Given the description of an element on the screen output the (x, y) to click on. 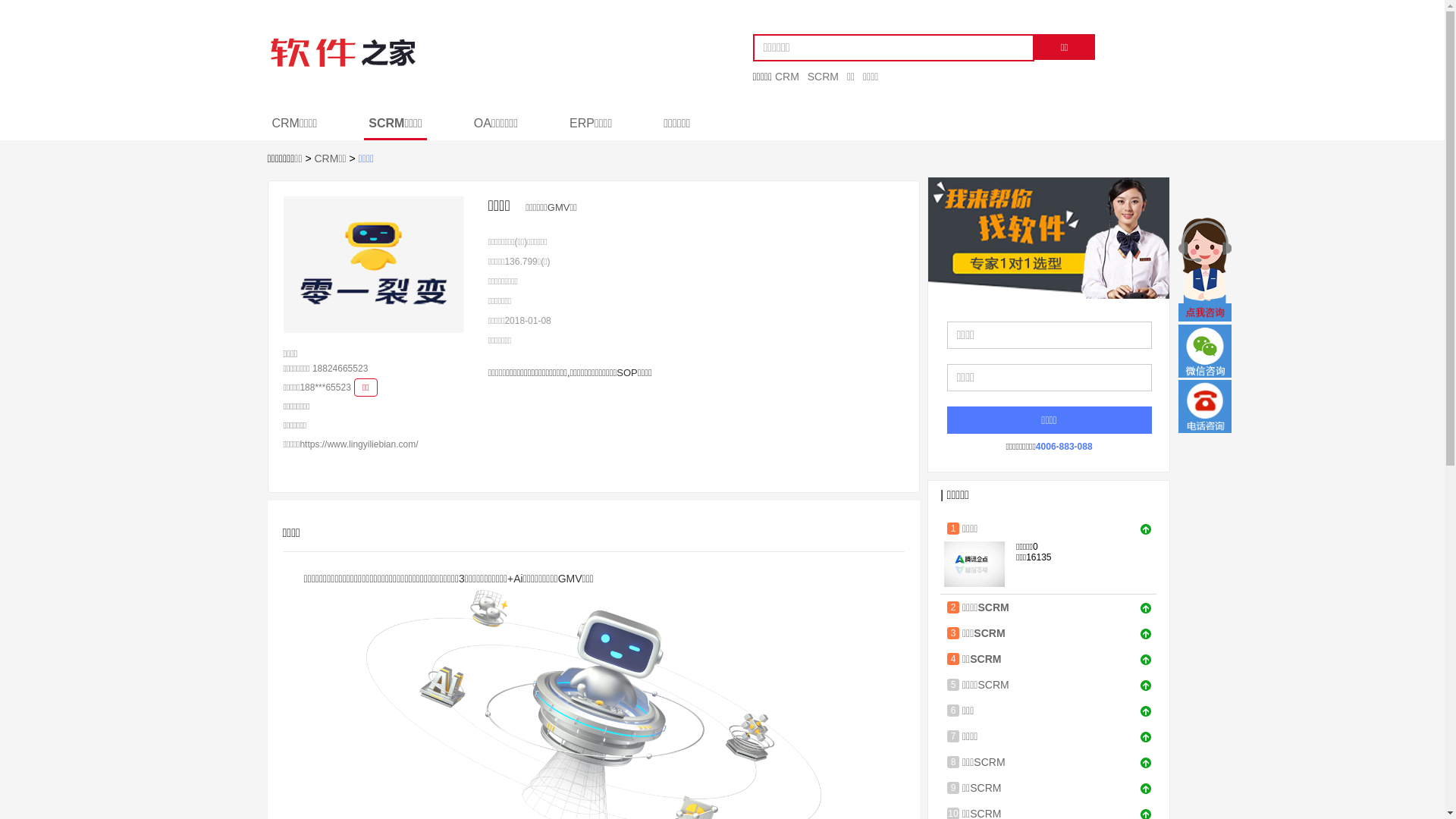
CRM Element type: text (789, 76)
SCRM Element type: text (825, 76)
